Given the description of an element on the screen output the (x, y) to click on. 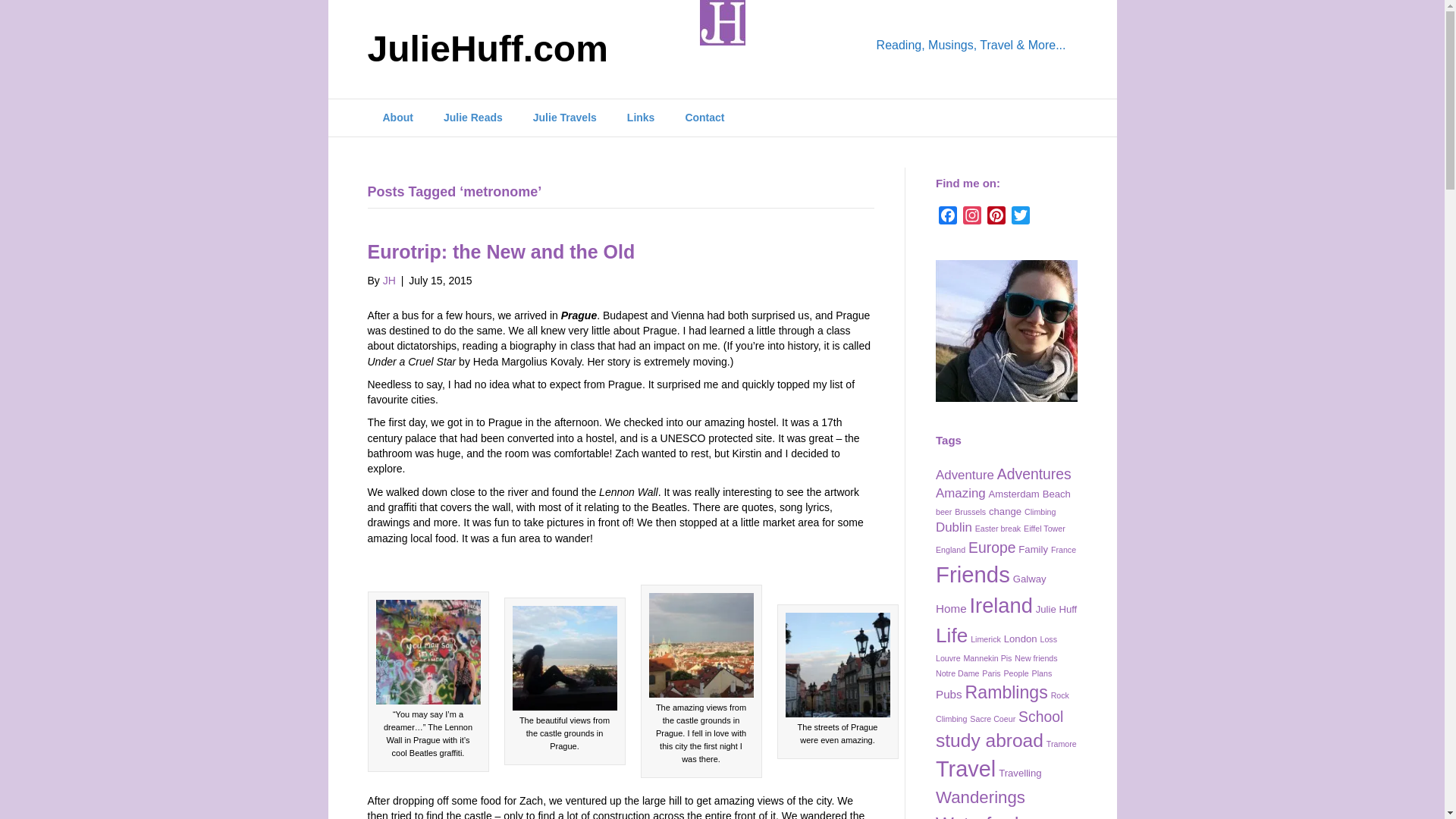
Facebook (947, 218)
Eurotrip: the New and the Old (500, 251)
Twitter (1020, 218)
Contact (704, 118)
About (397, 118)
Eurotrip: the New and the Old (500, 251)
JH (389, 280)
JulieHuff.com (532, 49)
Links (640, 118)
Instagram (971, 218)
Julie Travels (564, 118)
Pinterest (996, 218)
Julie Reads (473, 118)
